Given the description of an element on the screen output the (x, y) to click on. 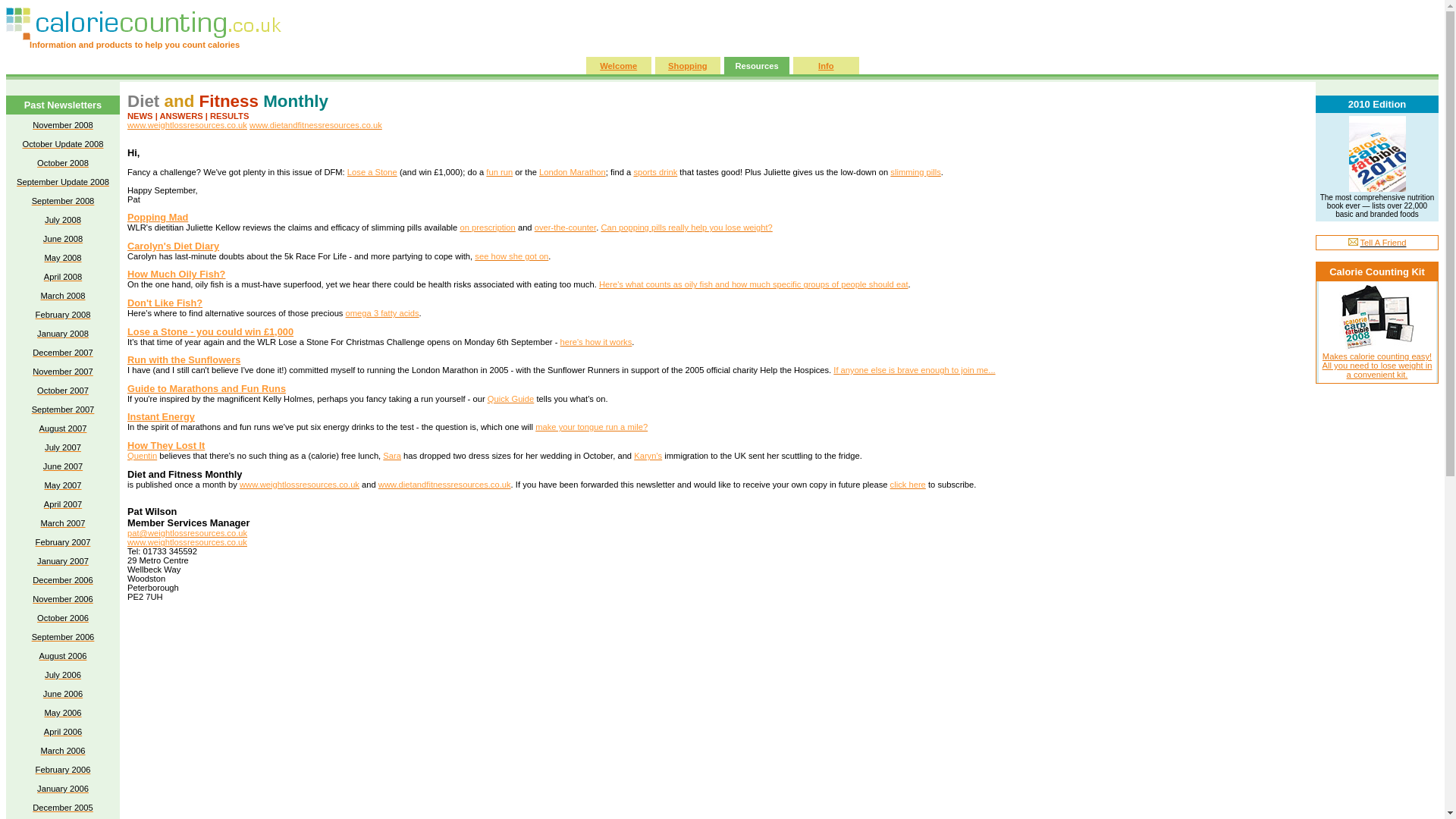
see how she got on (511, 256)
Can popping pills really help you lose weight? (685, 226)
How Much Oily Fish? (176, 274)
www.dietandfitnessresources.co.uk (314, 124)
November 2008 (62, 124)
fun run (499, 171)
Don't Like Fish? (165, 302)
make your tongue run a mile? (591, 426)
www.weightlossresources.co.uk (299, 483)
www.weightlossresources.co.uk (187, 542)
over-the-counter (564, 226)
Welcome (618, 64)
Instant Energy (161, 416)
Karyn's (647, 455)
